Given the description of an element on the screen output the (x, y) to click on. 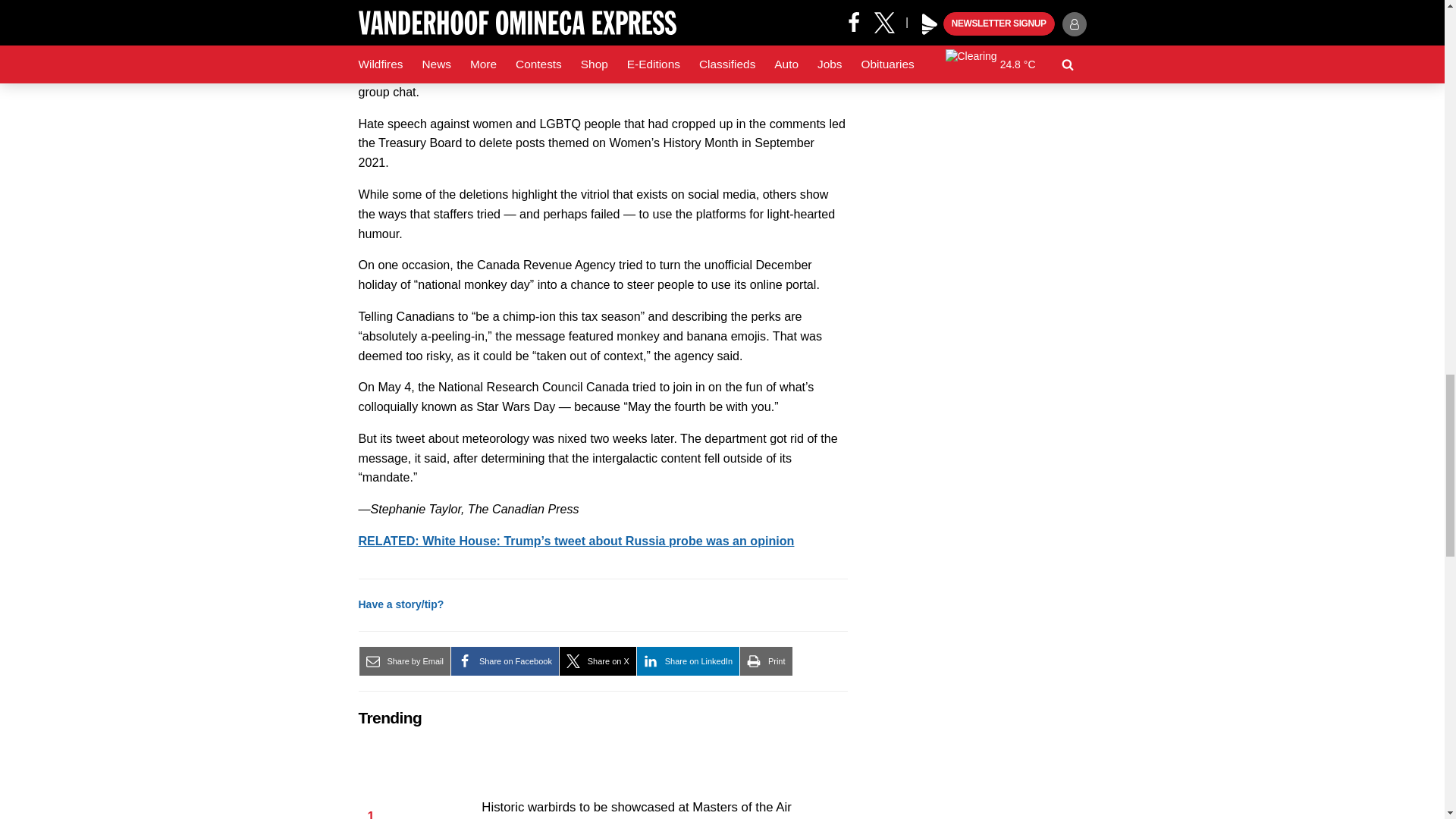
related story (575, 540)
